Given the description of an element on the screen output the (x, y) to click on. 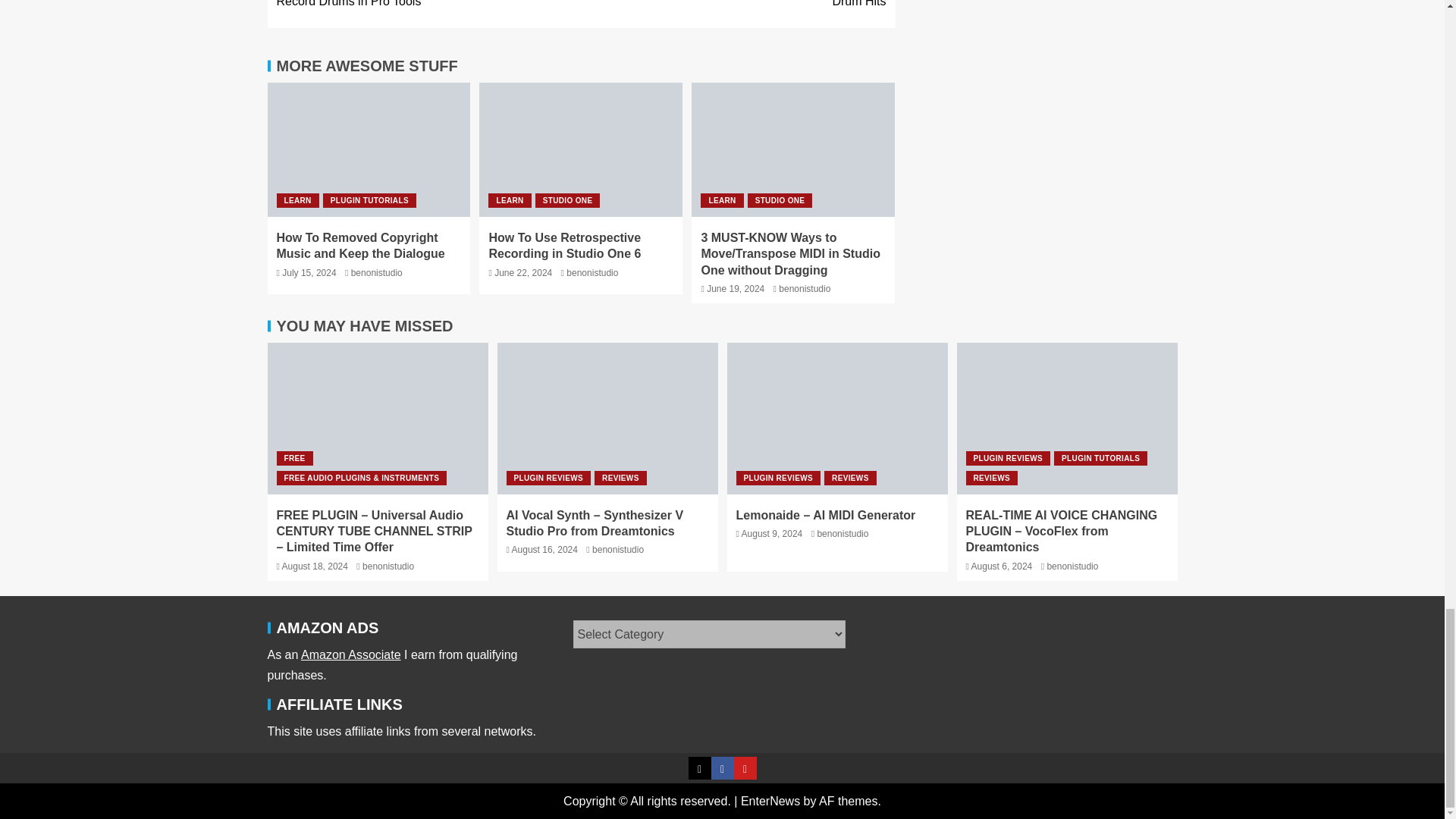
How To Removed Copyright Music and Keep the Dialogue (360, 245)
PLUGIN TUTORIALS (369, 200)
benonistudio (376, 272)
LEARN (509, 200)
LEARN (297, 200)
